Given the description of an element on the screen output the (x, y) to click on. 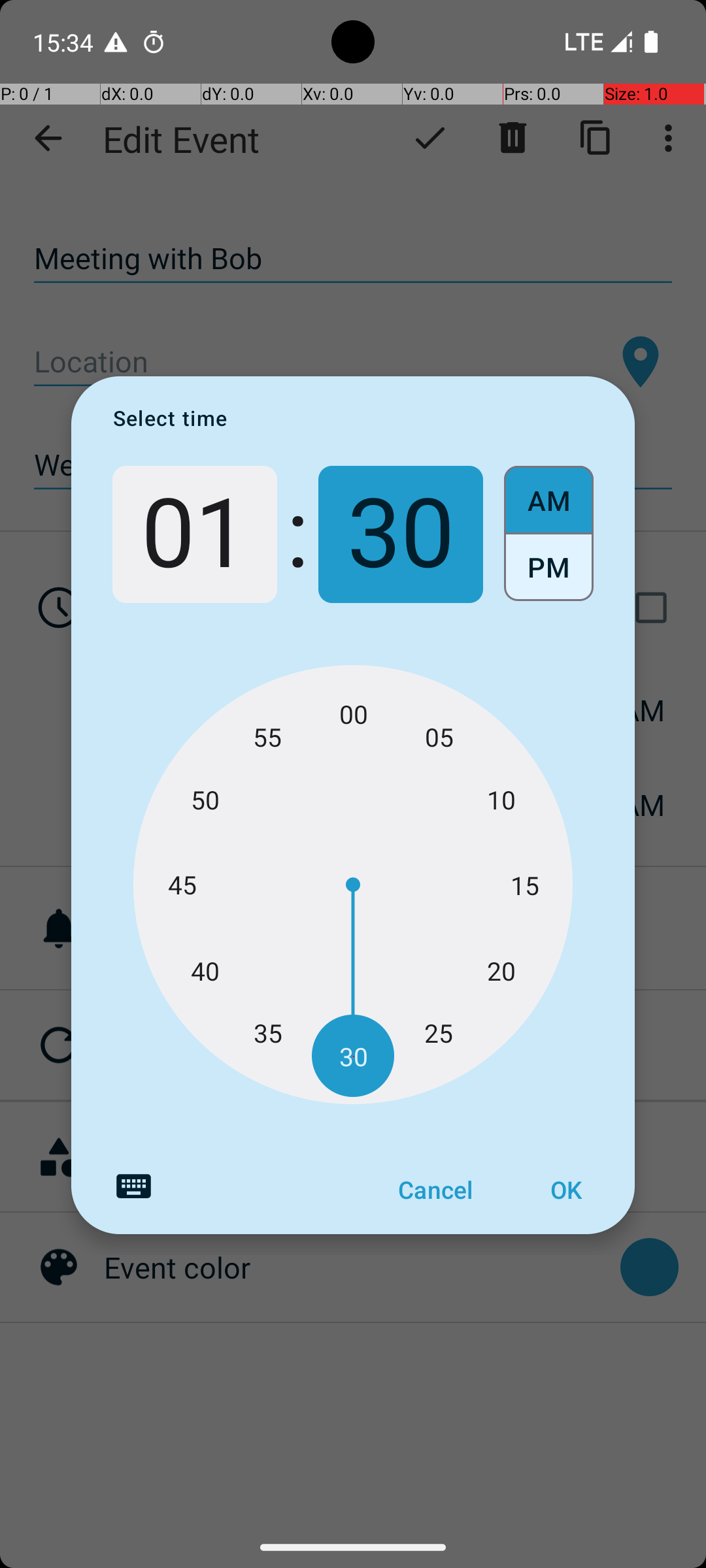
01 Element type: android.view.View (194, 534)
Select AM or PM Element type: android.widget.LinearLayout (548, 534)
